Given the description of an element on the screen output the (x, y) to click on. 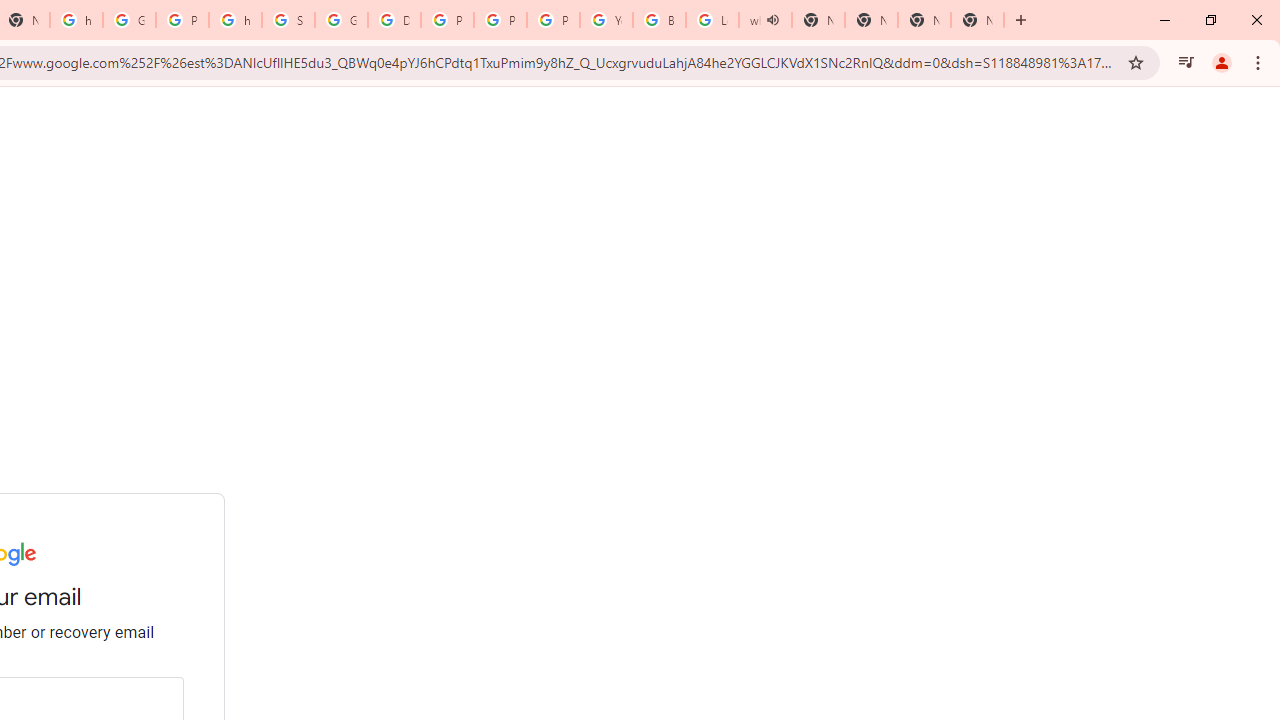
New Tab (924, 20)
YouTube (606, 20)
